Given the description of an element on the screen output the (x, y) to click on. 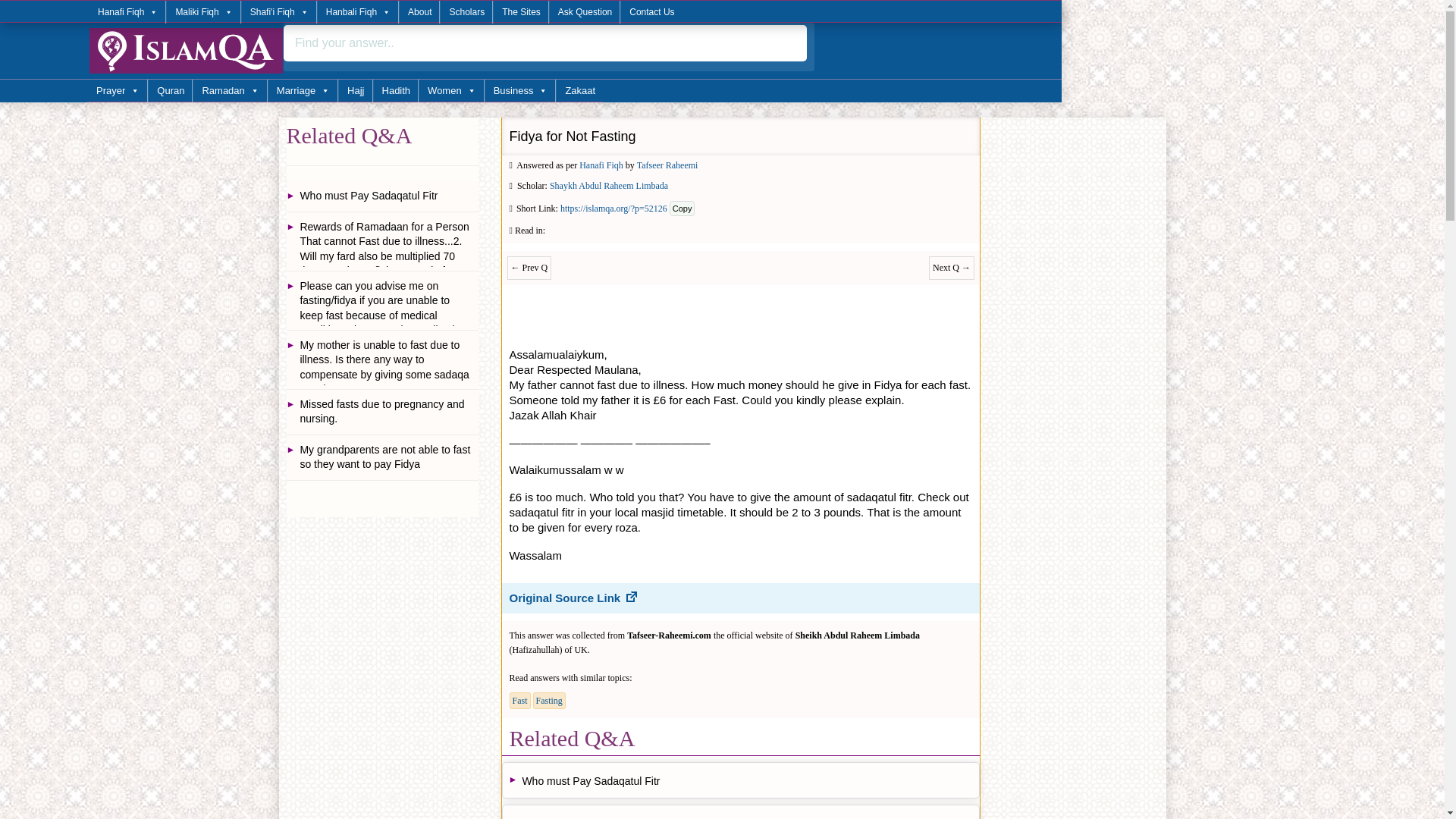
Hanafi Fiqh (126, 11)
Shaykh Abdul Raheem Limbada (609, 185)
Maliki Fiqh (202, 11)
